Given the description of an element on the screen output the (x, y) to click on. 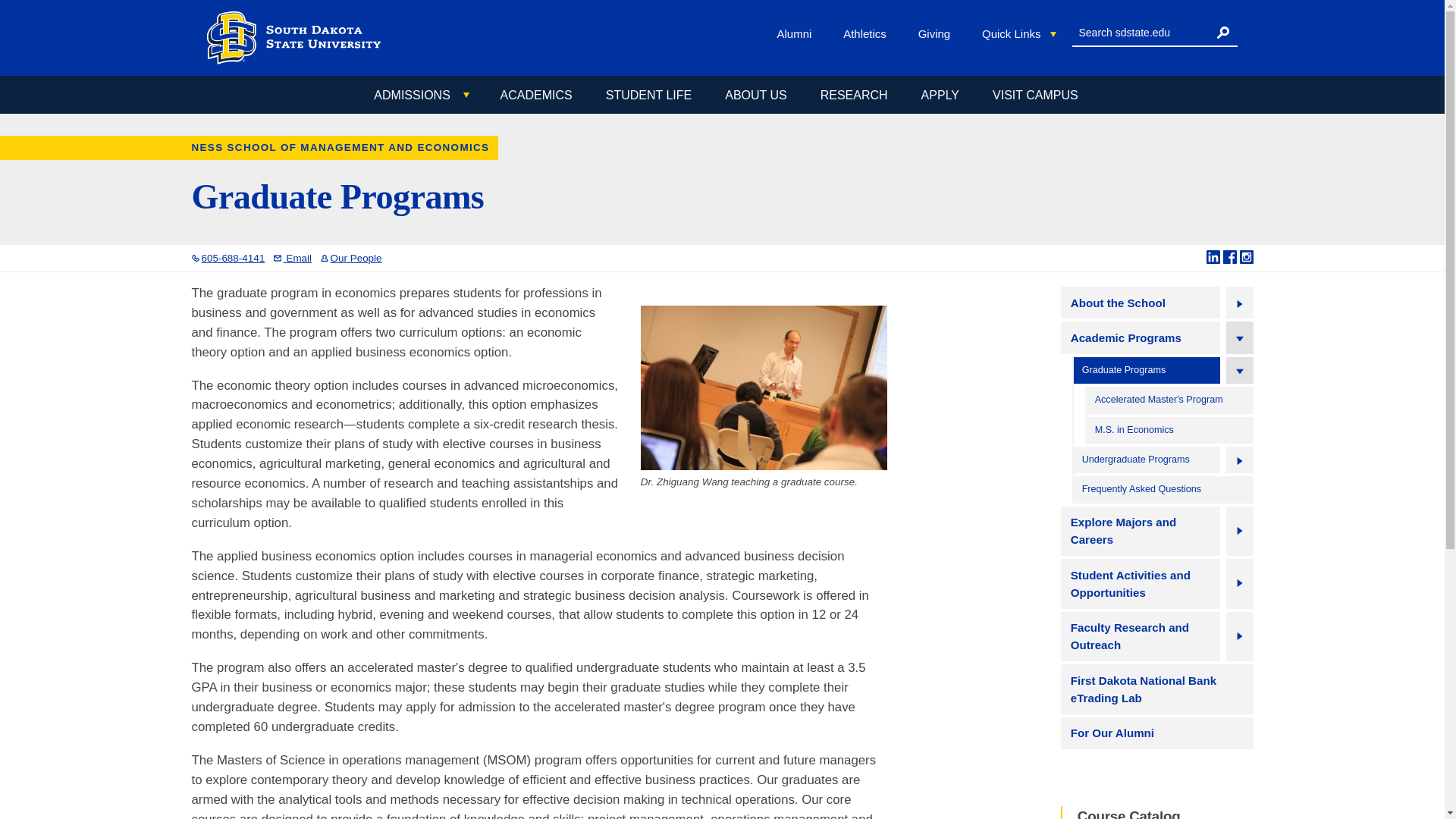
Quick Links (1019, 34)
Alumni (797, 33)
ADMISSIONS (420, 95)
STUDENT LIFE (648, 94)
Search (1222, 32)
Residential life, clubs and organizations, dining (648, 94)
Athletics (867, 33)
Email Sdsu Ness School (292, 257)
Search (1222, 32)
Ness School of Management and Economics Directory (350, 257)
RESEARCH (854, 94)
APPLY (940, 94)
ABOUT US (755, 94)
ACADEMICS (536, 94)
